Given the description of an element on the screen output the (x, y) to click on. 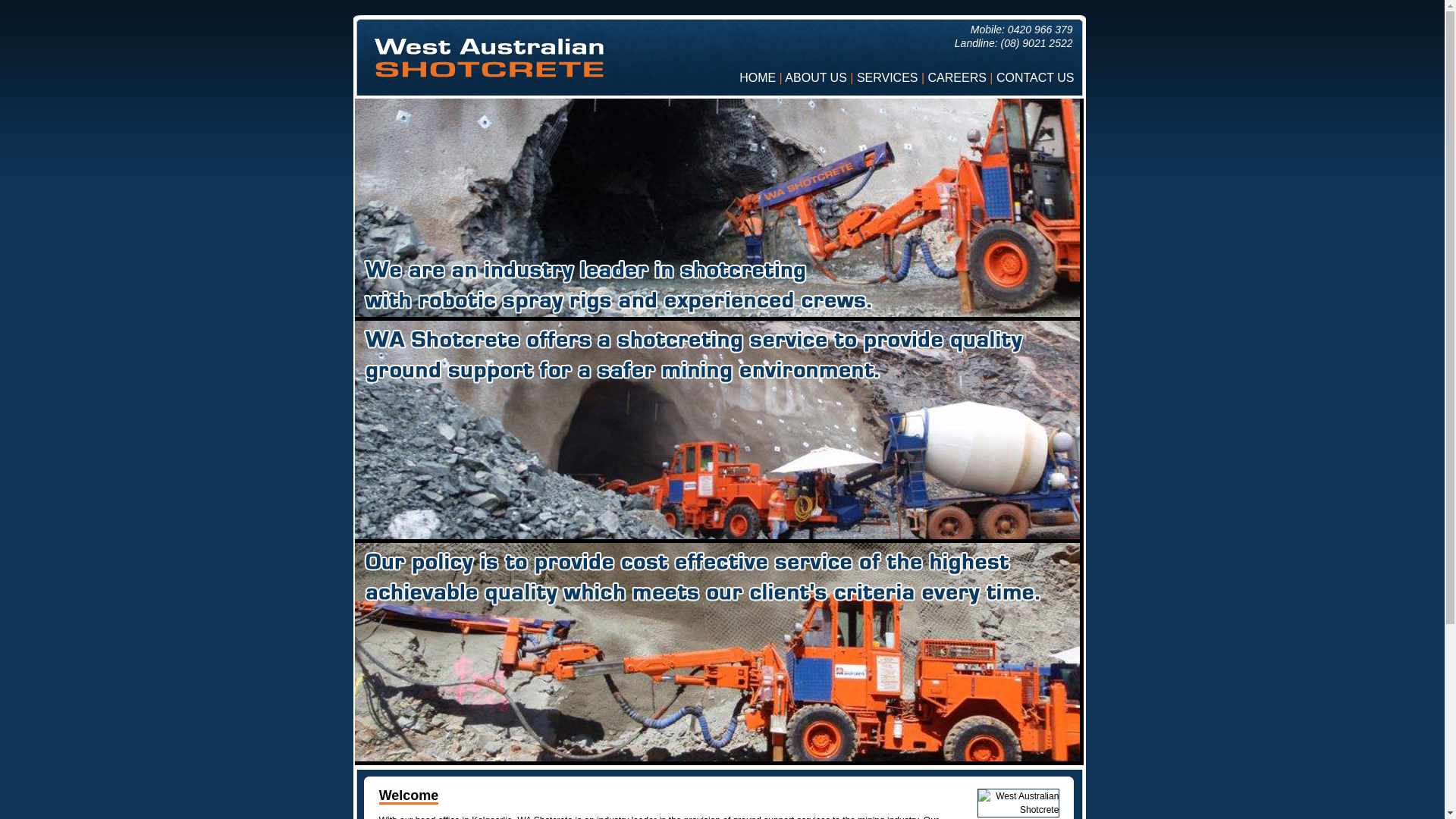
ABOUT US Element type: text (815, 77)
CAREERS Element type: text (957, 77)
SERVICES Element type: text (887, 77)
CONTACT US Element type: text (1035, 77)
HOME Element type: text (757, 77)
